Given the description of an element on the screen output the (x, y) to click on. 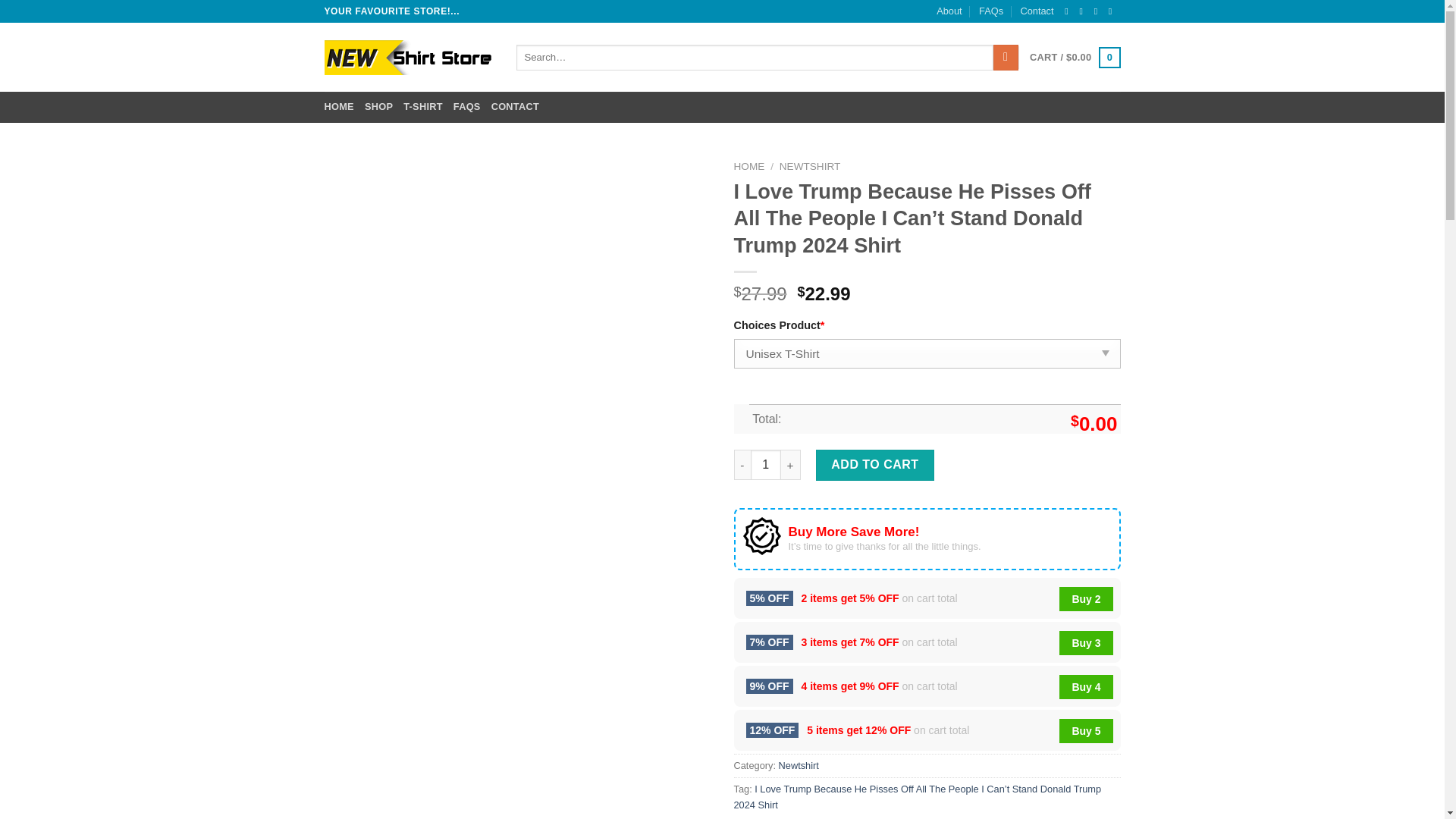
HOME (749, 165)
1 (765, 464)
Cart (1074, 57)
Contact (1036, 11)
Newtshirt (798, 765)
NEWTSHIRT (809, 165)
SHOP (379, 106)
Search (1004, 57)
ADD TO CART (874, 464)
About (948, 11)
